Given the description of an element on the screen output the (x, y) to click on. 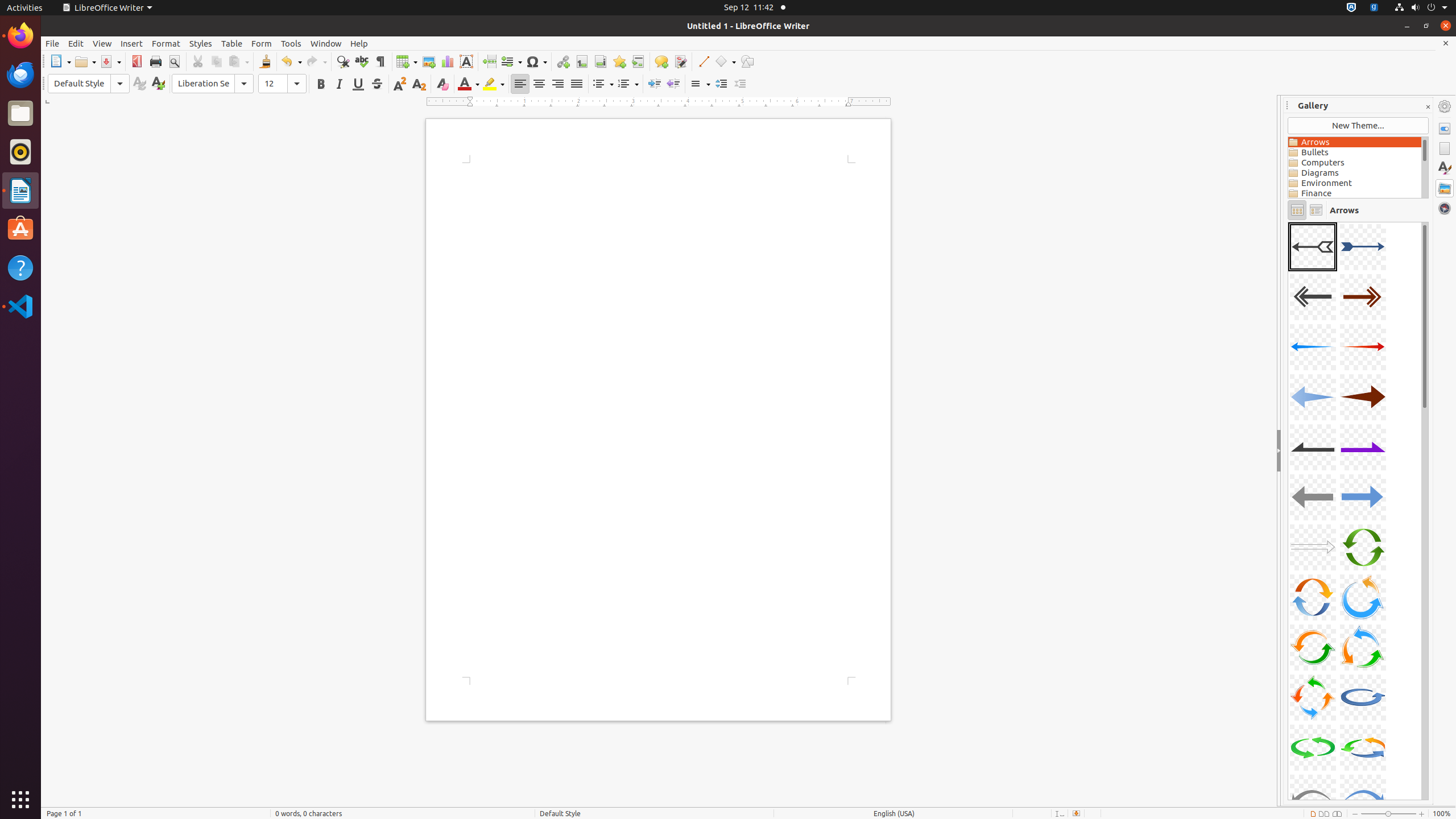
Numbering Element type: push-button (627, 83)
Cross-reference Element type: push-button (637, 61)
A22-CircleArrow Element type: list-item (1362, 746)
Table Element type: push-button (406, 61)
Bullets Element type: list-item (1354, 152)
